Given the description of an element on the screen output the (x, y) to click on. 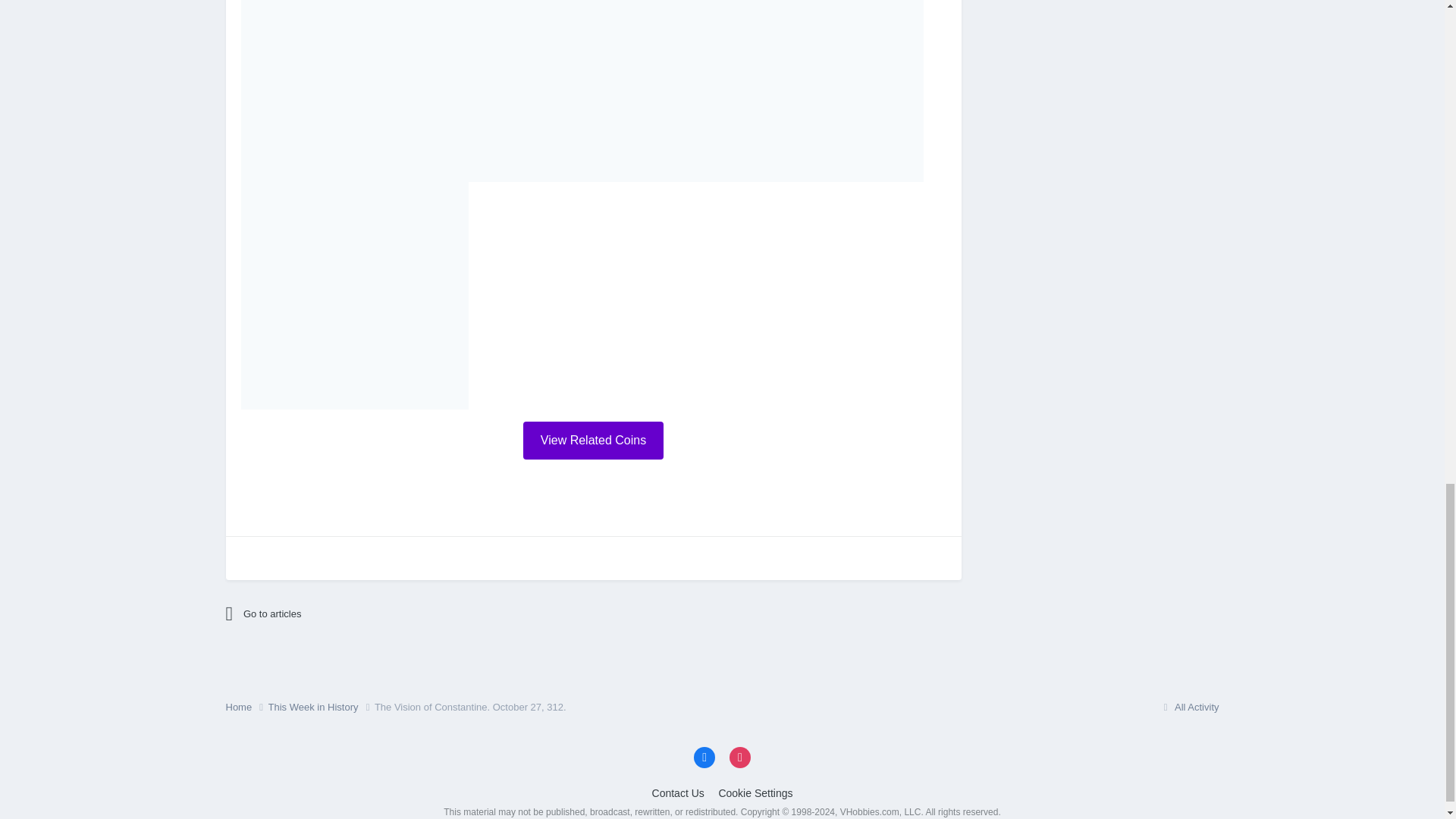
View Related Coins (592, 440)
Go to This Week in History (358, 614)
